Given the description of an element on the screen output the (x, y) to click on. 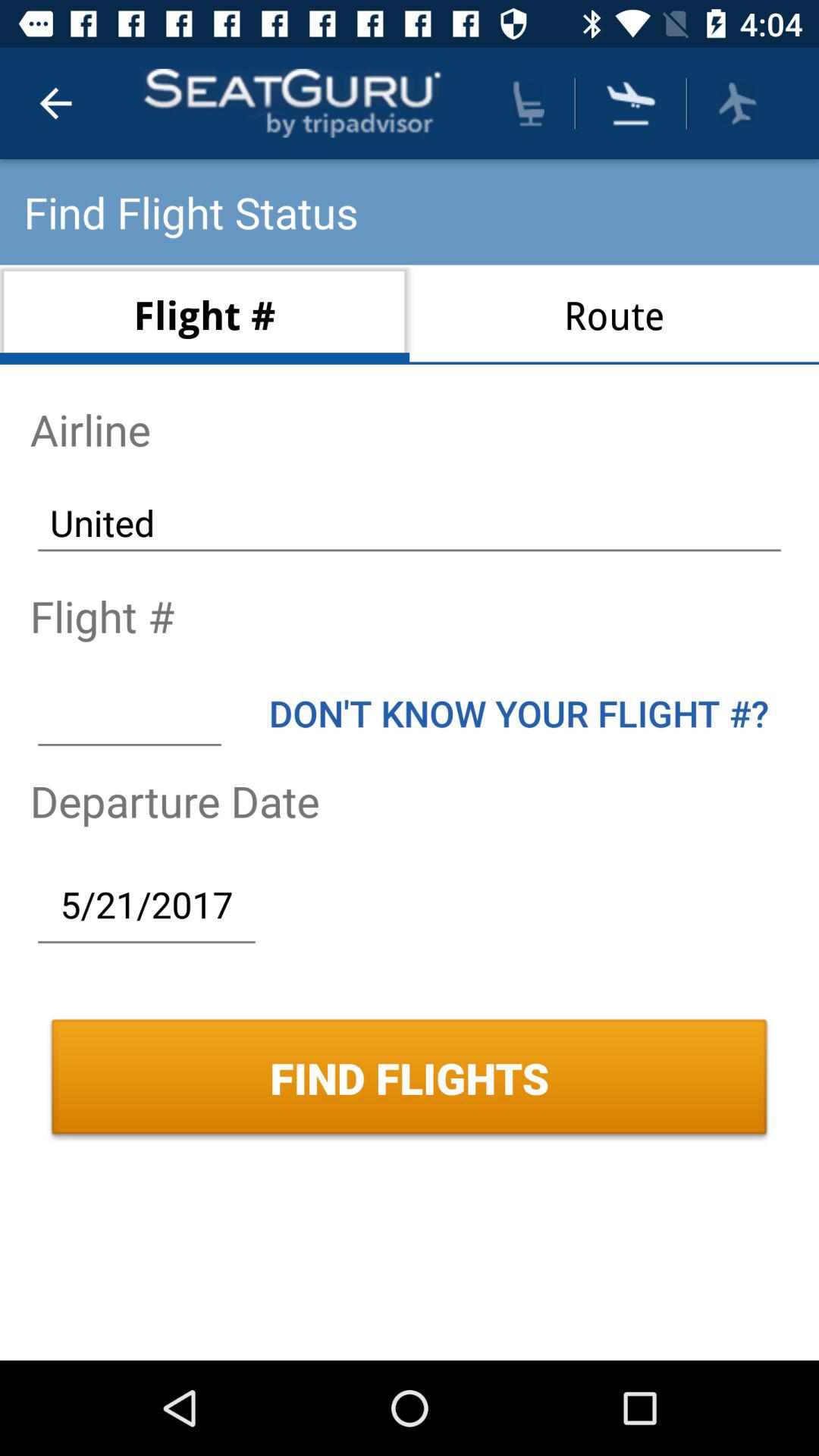
toggle on the go (737, 103)
